Given the description of an element on the screen output the (x, y) to click on. 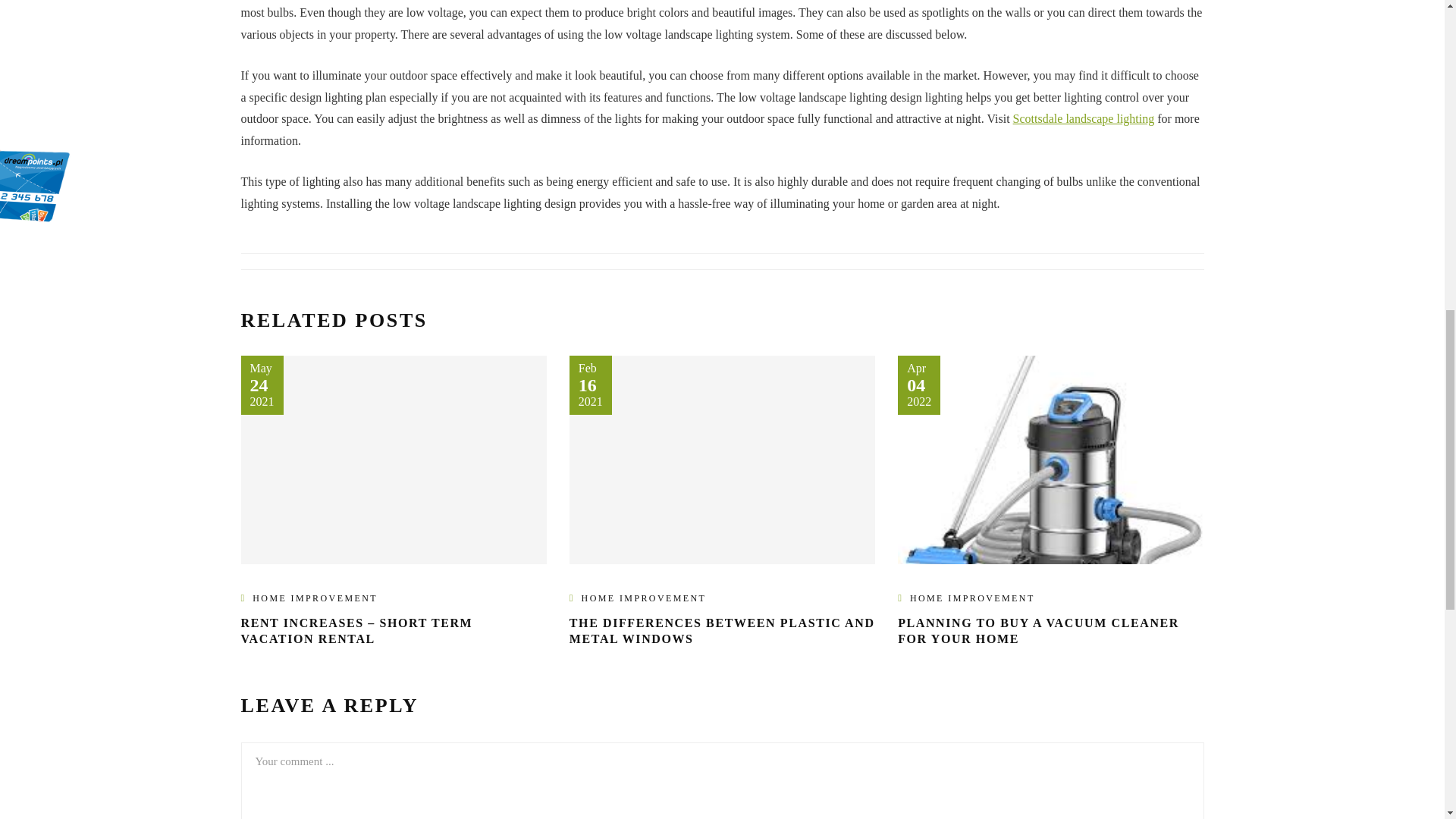
HOME IMPROVEMENT (643, 597)
HOME IMPROVEMENT (972, 597)
THE DIFFERENCES BETWEEN PLASTIC AND METAL WINDOWS (722, 630)
PLANNING TO BUY A VACUUM CLEANER FOR YOUR HOME (1038, 630)
HOME IMPROVEMENT (314, 597)
Scottsdale landscape lighting (1083, 118)
